Given the description of an element on the screen output the (x, y) to click on. 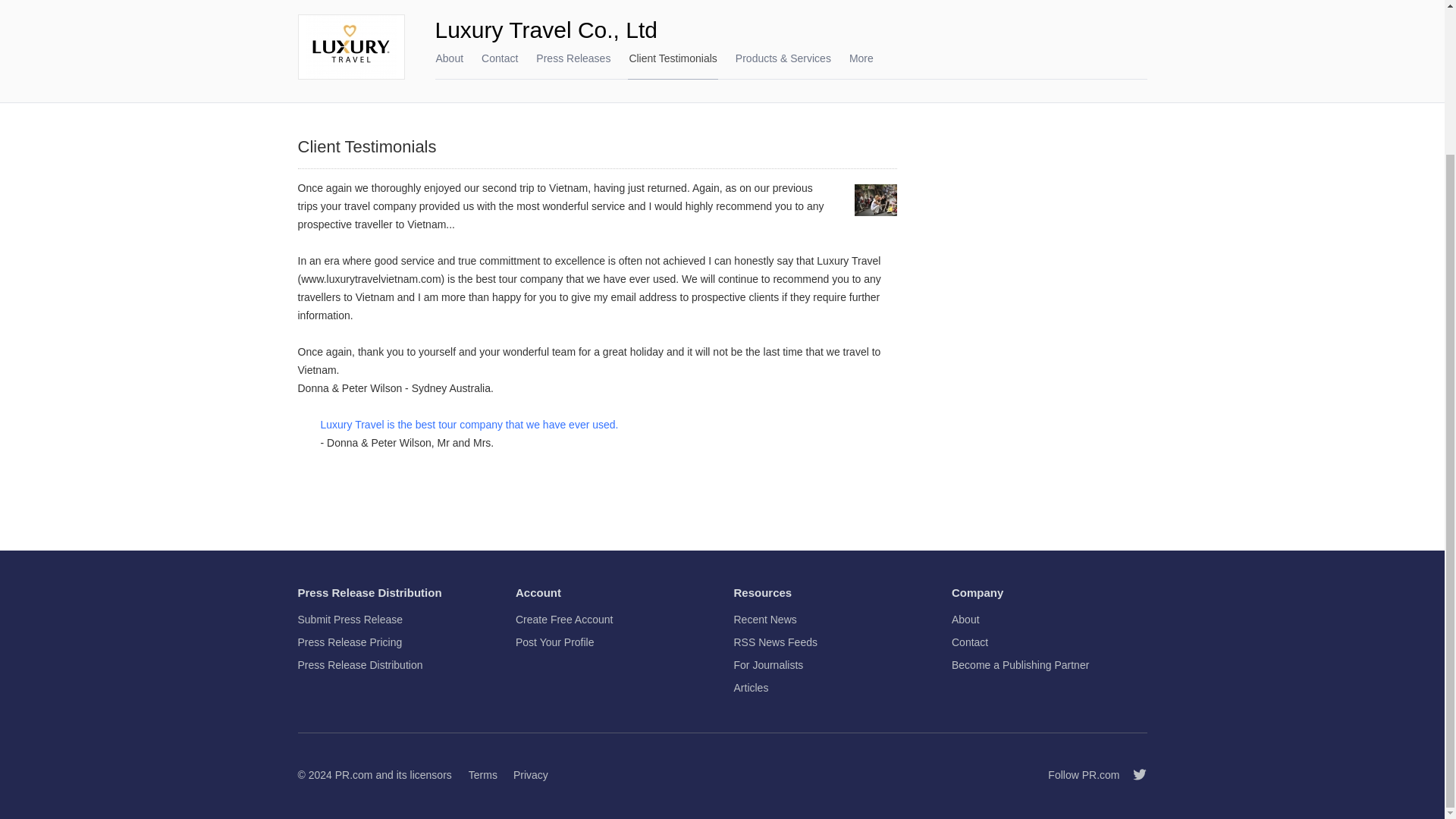
Contact (499, 58)
About (449, 58)
Press Releases (573, 58)
Client Testimonials (672, 58)
More (861, 65)
Advertisement (1032, 262)
